Given the description of an element on the screen output the (x, y) to click on. 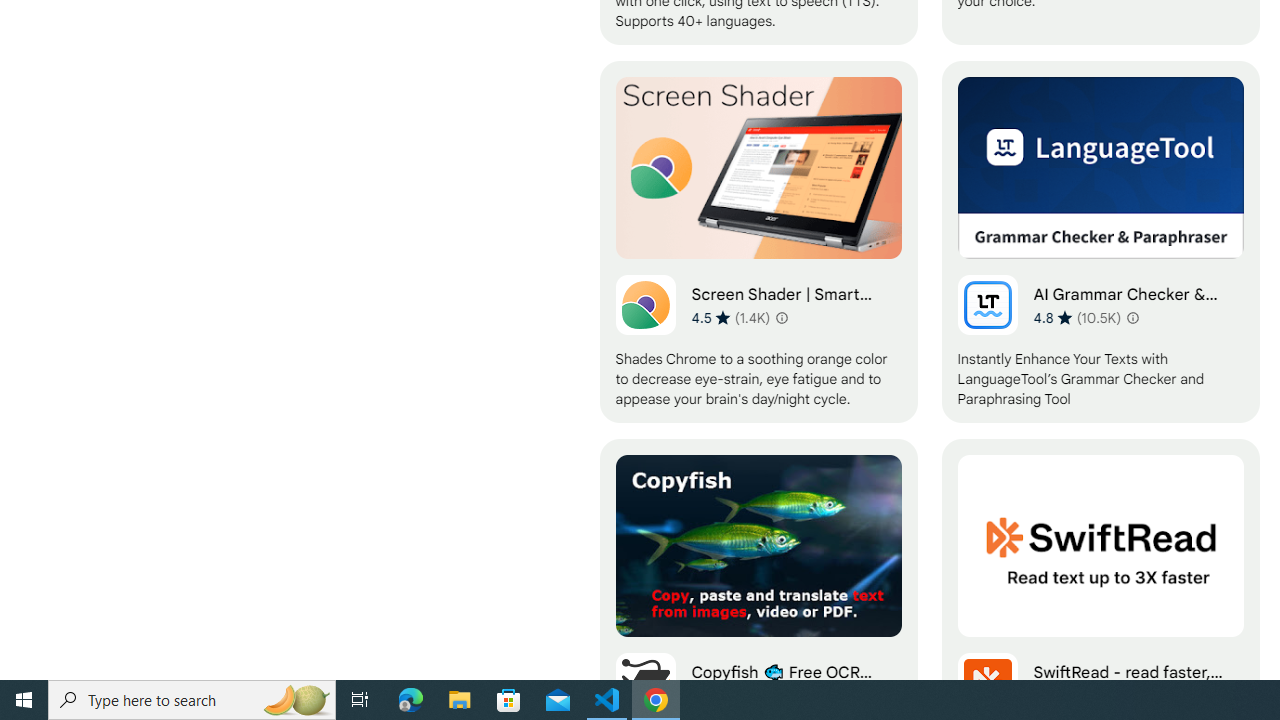
Screen Shader | Smart Screen Tinting (758, 242)
Average rating 4.8 out of 5 stars. 10.5K ratings. (1077, 317)
Average rating 4.5 out of 5 stars. 1.4K ratings. (730, 317)
